Given the description of an element on the screen output the (x, y) to click on. 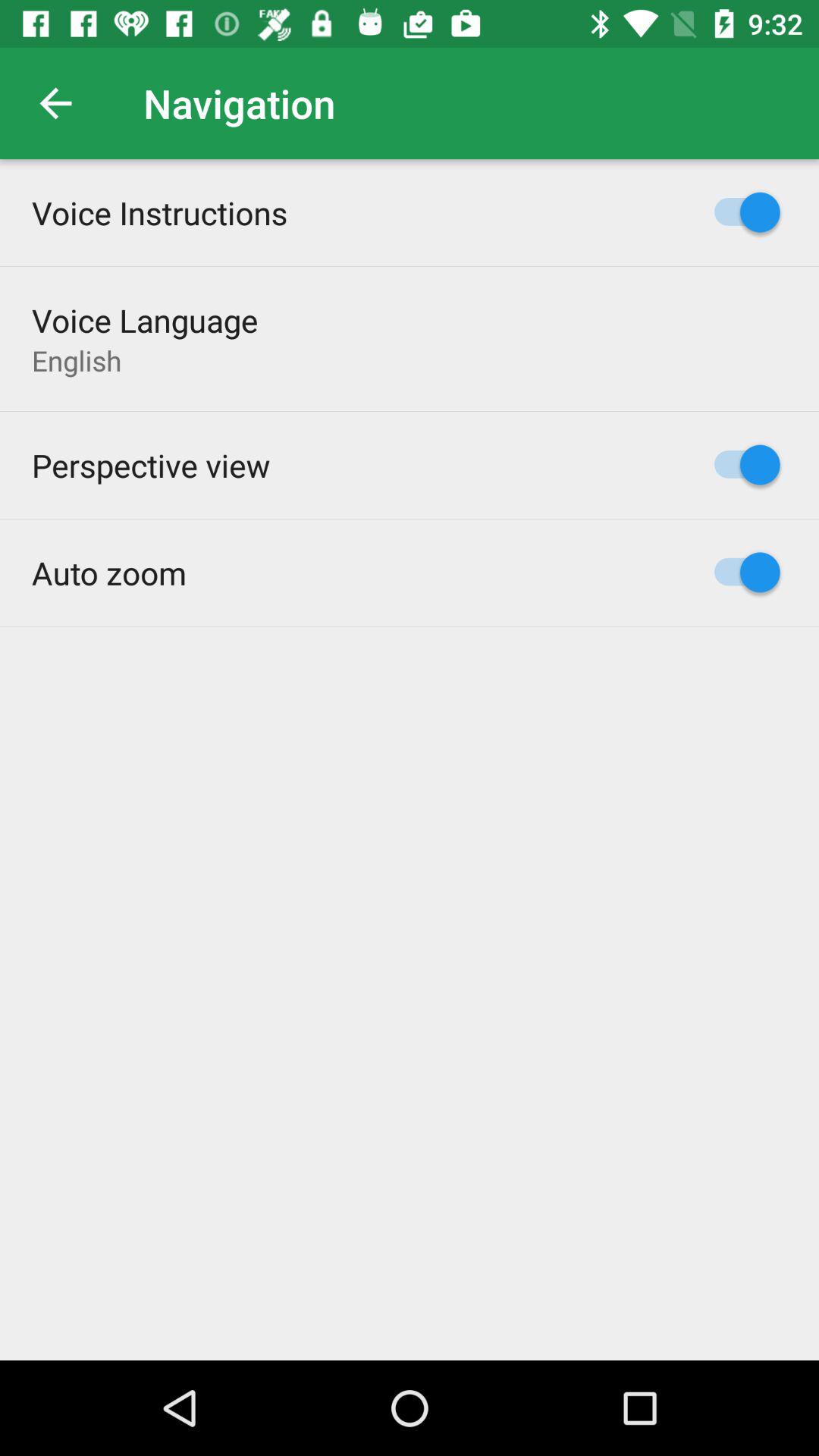
turn off the auto zoom icon (108, 572)
